Given the description of an element on the screen output the (x, y) to click on. 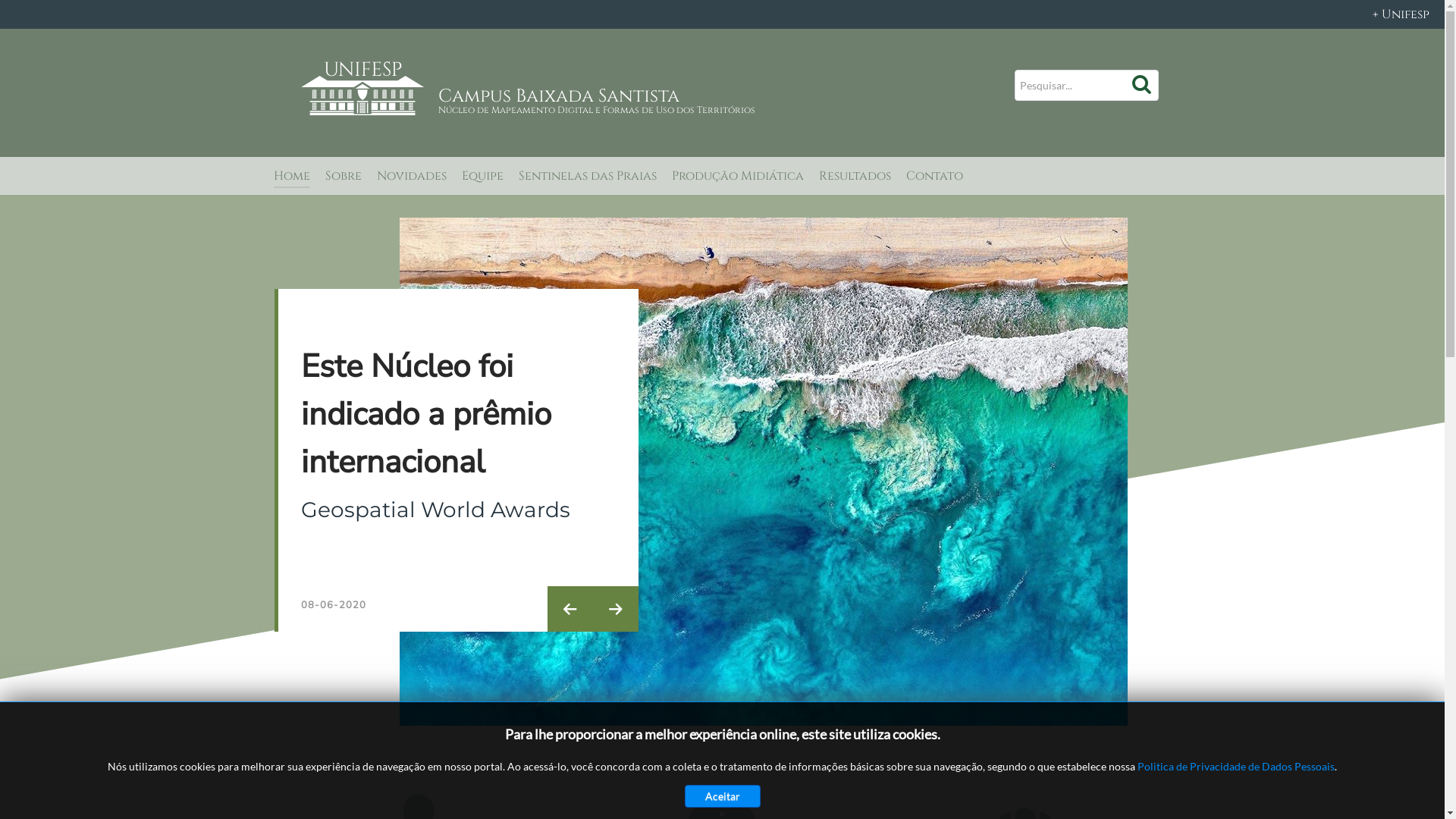
+ Unifesp Element type: text (722, 14)
Sobre Element type: text (342, 176)
Contato Element type: text (933, 176)
Equipe Element type: text (481, 176)
Resultados Element type: text (855, 176)
Home Element type: text (291, 176)
Novidades Element type: text (410, 176)
Sentinelas das Praias Element type: text (587, 176)
Politica de Privacidade de Dados Pessoais Element type: text (1235, 765)
